Given the description of an element on the screen output the (x, y) to click on. 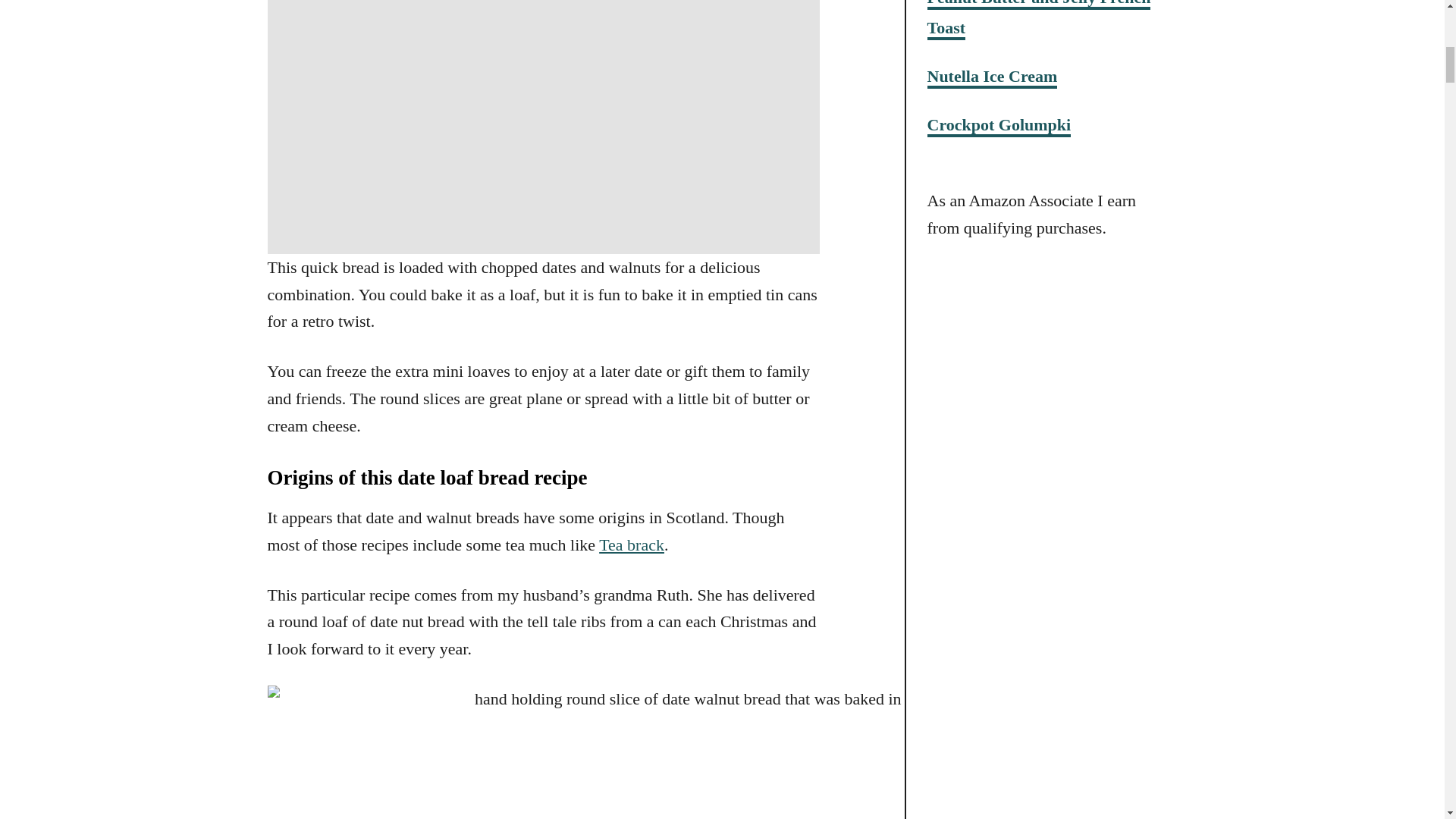
Tea brack (630, 544)
Grandma's Date Nut Loaves - Baked in Cans 2 (713, 752)
